Given the description of an element on the screen output the (x, y) to click on. 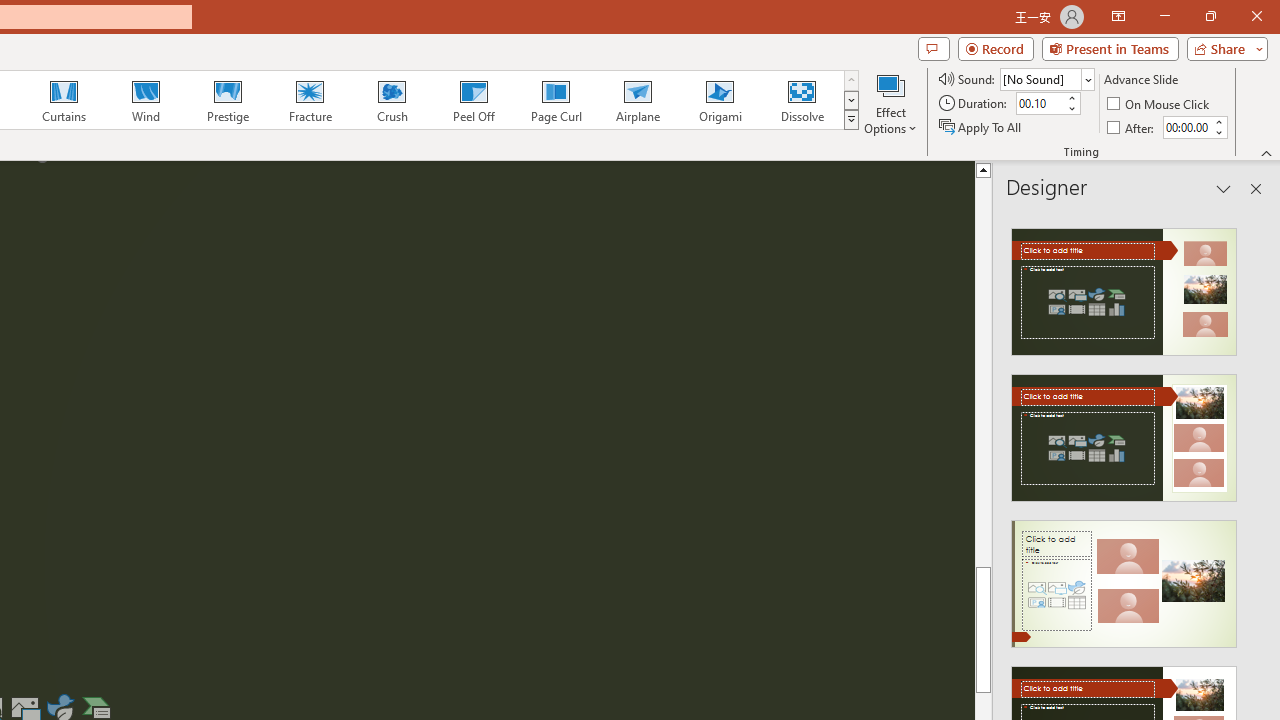
Curtains (63, 100)
Peel Off (473, 100)
Recommended Design: Design Idea (1124, 286)
Fracture (309, 100)
Prestige (227, 100)
Transition Effects (850, 120)
Crush (391, 100)
On Mouse Click (1159, 103)
After (1131, 126)
